Given the description of an element on the screen output the (x, y) to click on. 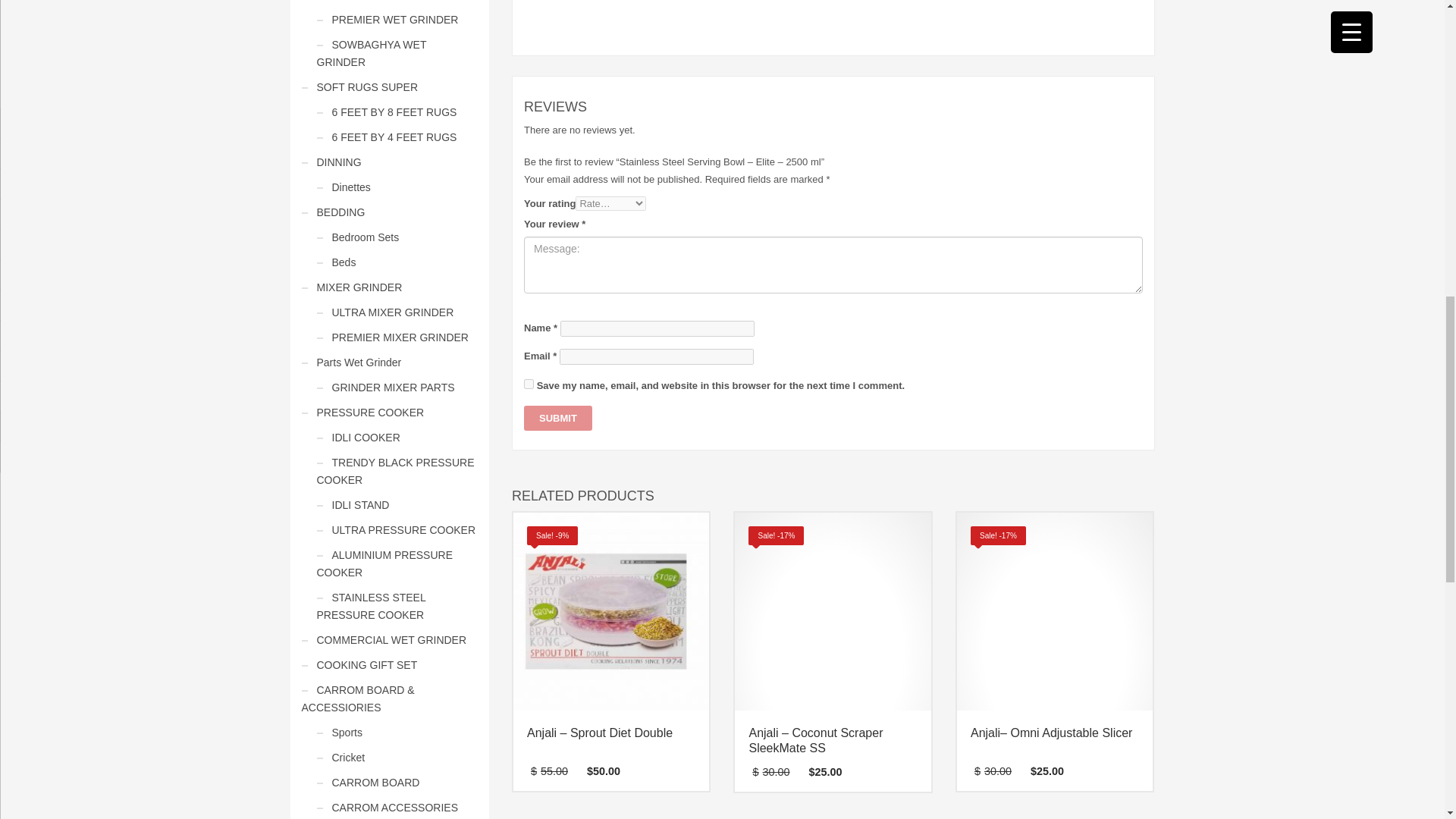
yes (529, 384)
DOUBLE DIET 1 (611, 610)
Submit (558, 417)
MATE COCO 1 (832, 610)
